Given the description of an element on the screen output the (x, y) to click on. 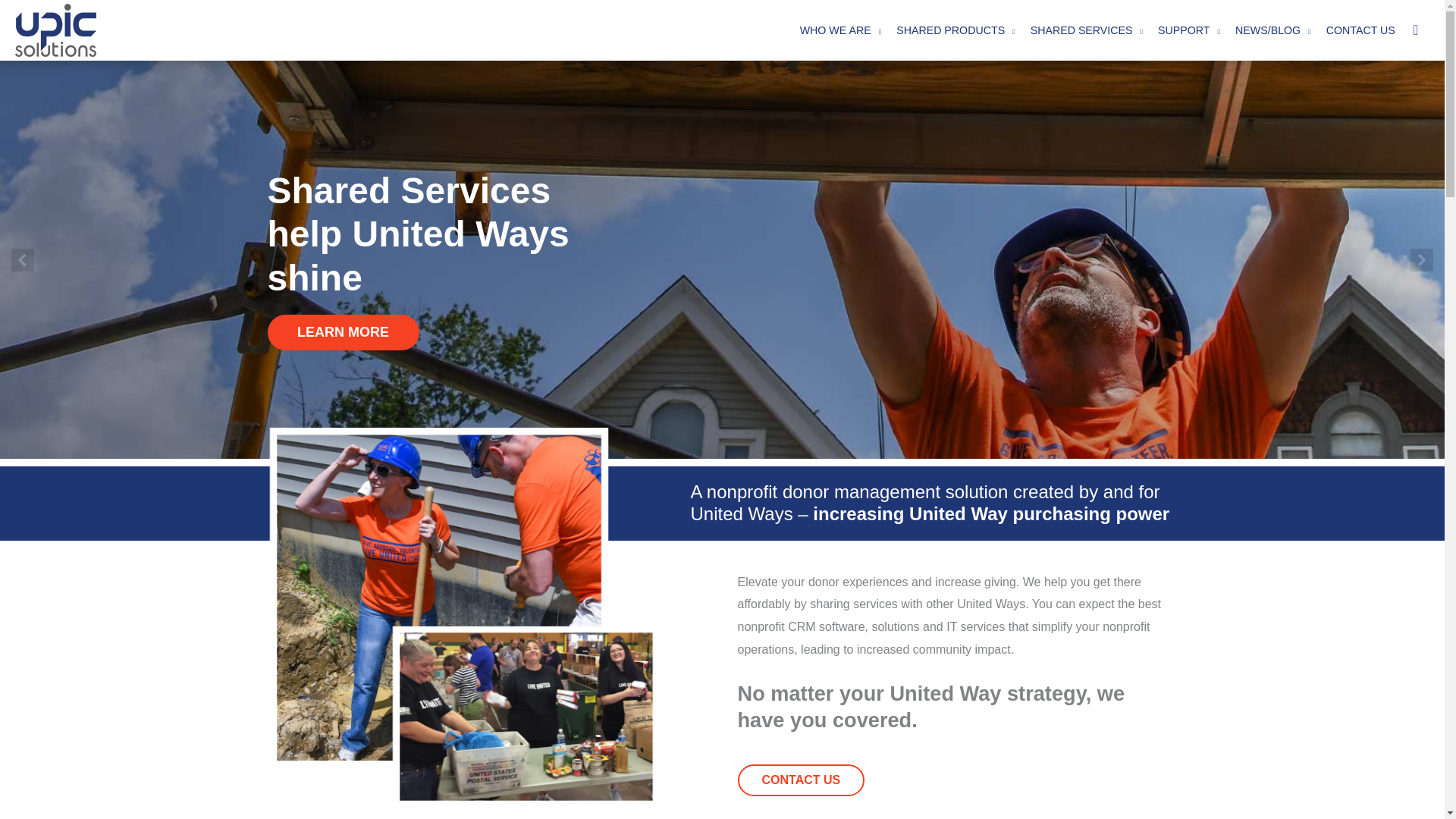
SHARED SERVICES (1086, 30)
SUPPORT (1188, 30)
LEARN MORE (342, 332)
WHO WE ARE (840, 30)
SHARED PRODUCTS (955, 30)
CONTACT US (1361, 30)
